Given the description of an element on the screen output the (x, y) to click on. 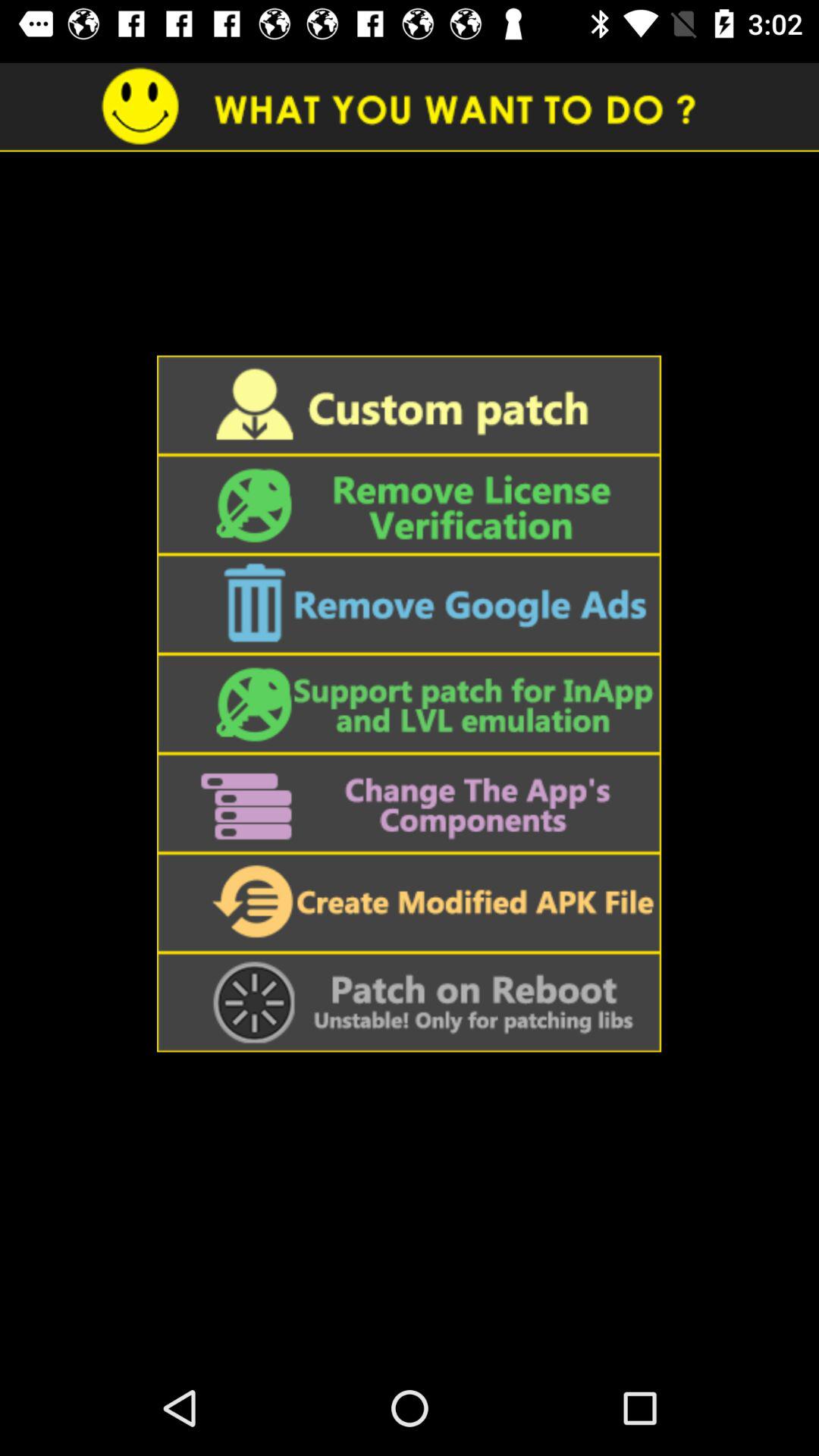
create modified apk file (408, 902)
